Given the description of an element on the screen output the (x, y) to click on. 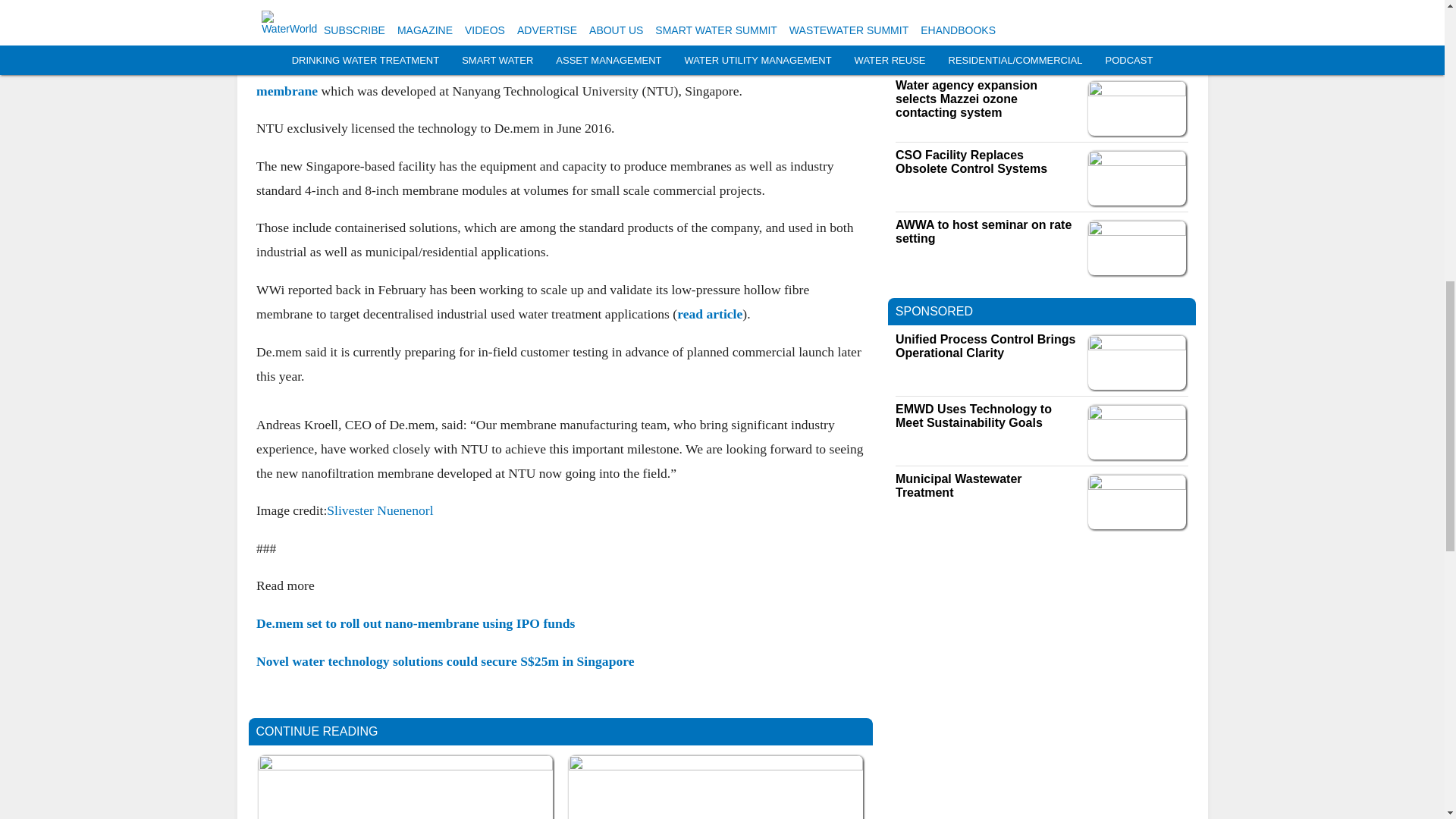
Slivester Nuenenorl (379, 509)
read article (709, 313)
De.mem set to roll out nano-membrane using IPO funds (415, 622)
membrane (286, 89)
